Given the description of an element on the screen output the (x, y) to click on. 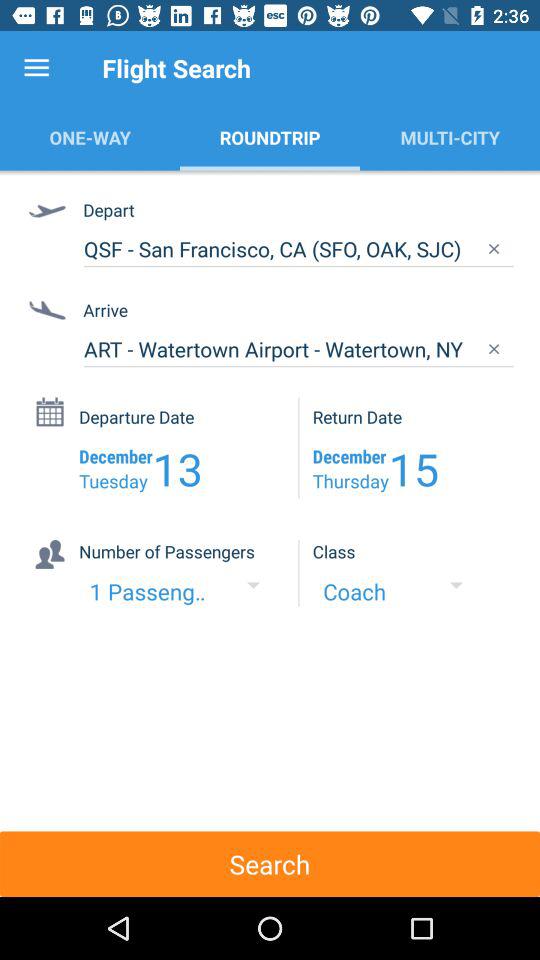
click icon next to flight search item (36, 68)
